Given the description of an element on the screen output the (x, y) to click on. 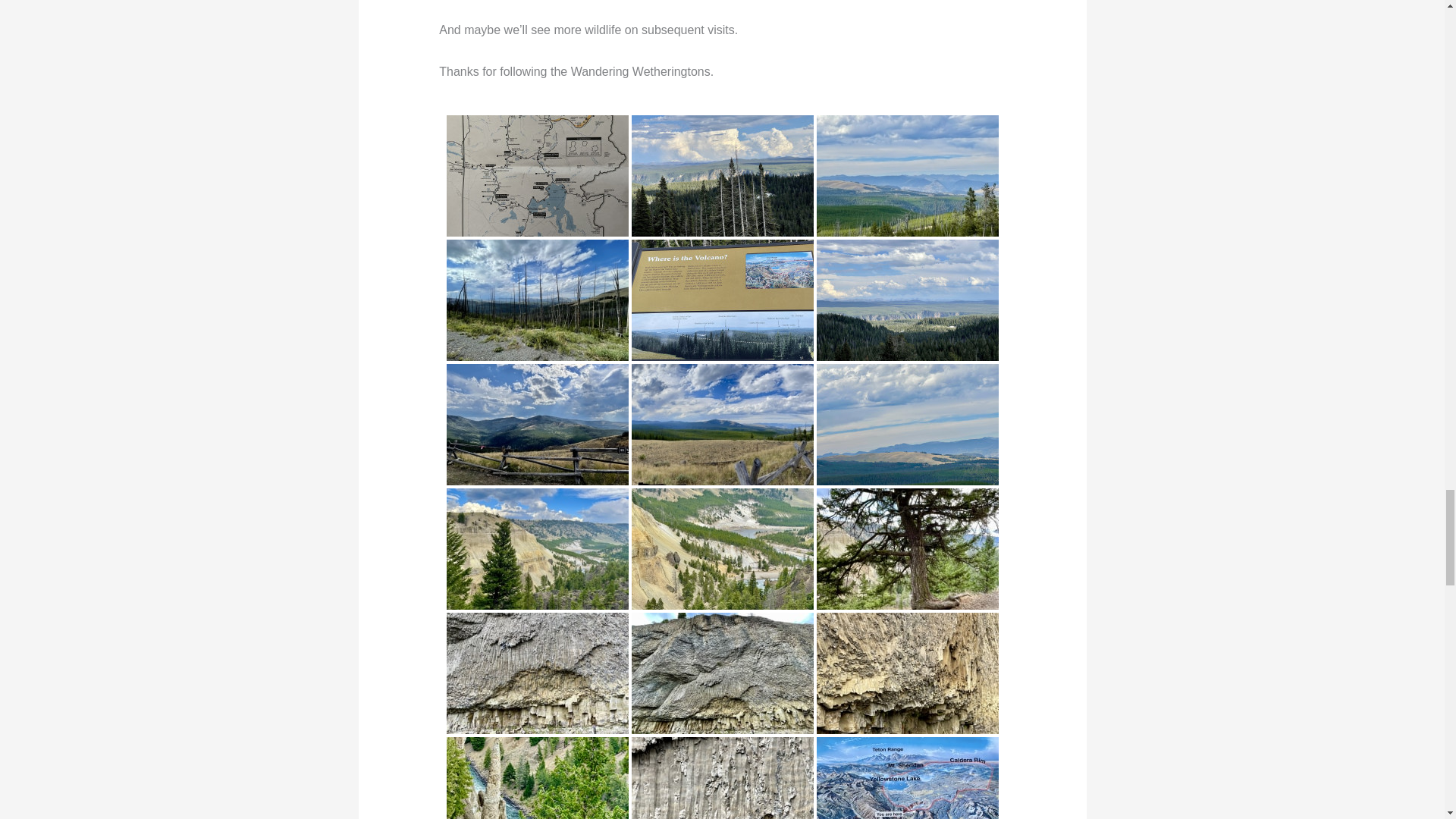
9DDF37F6-0B3F-40CC-9274-6D9F854C4FB1 (721, 175)
BE87F41A-A386-4089-B7BC-DFAD1520A2DE (536, 300)
64F4B1EE-C6A3-4273-98B6-2FA1471E2955 (536, 175)
CE91C951-9A9A-46F7-B23F-33F83277D7C2 (906, 175)
88126010-20F6-4A8A-958F-0EFFF1B1AE04 (721, 300)
